Given the description of an element on the screen output the (x, y) to click on. 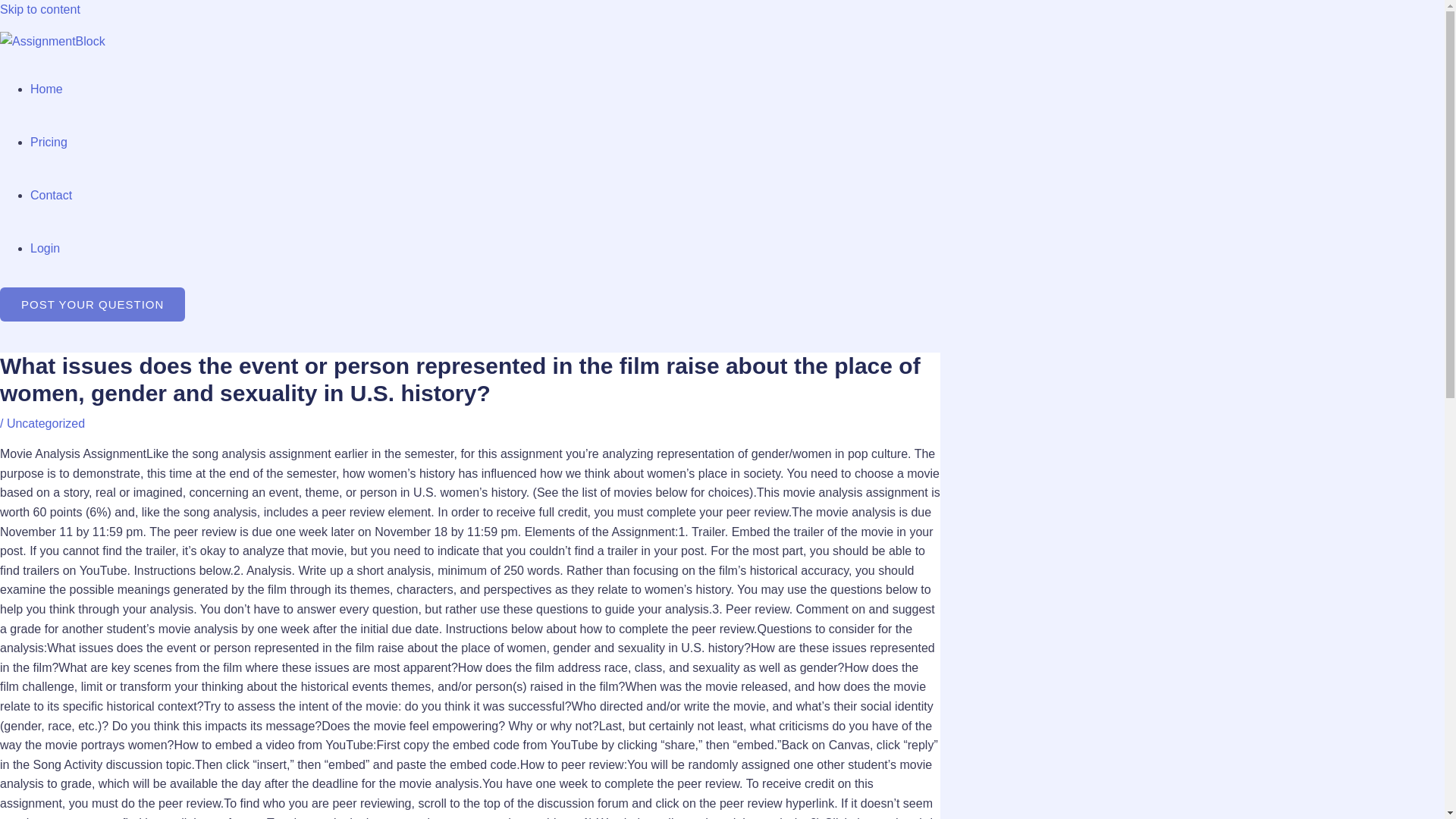
Home (46, 88)
POST YOUR QUESTION (92, 304)
Uncategorized (45, 422)
Skip to content (40, 9)
Contact (50, 195)
Login (44, 247)
Pricing (48, 141)
Skip to content (40, 9)
